Given the description of an element on the screen output the (x, y) to click on. 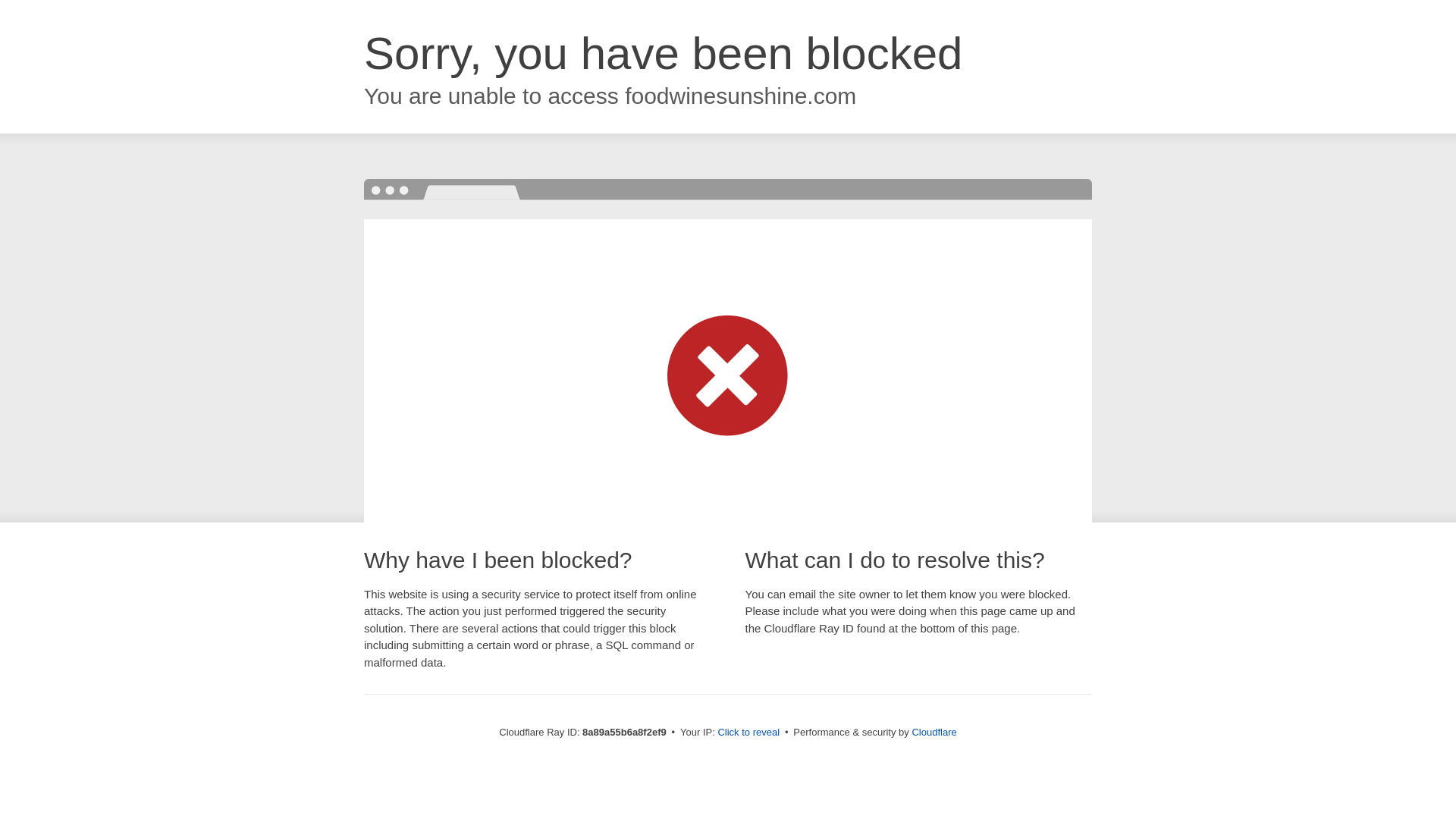
Click to reveal (747, 732)
Cloudflare (933, 731)
